Given the description of an element on the screen output the (x, y) to click on. 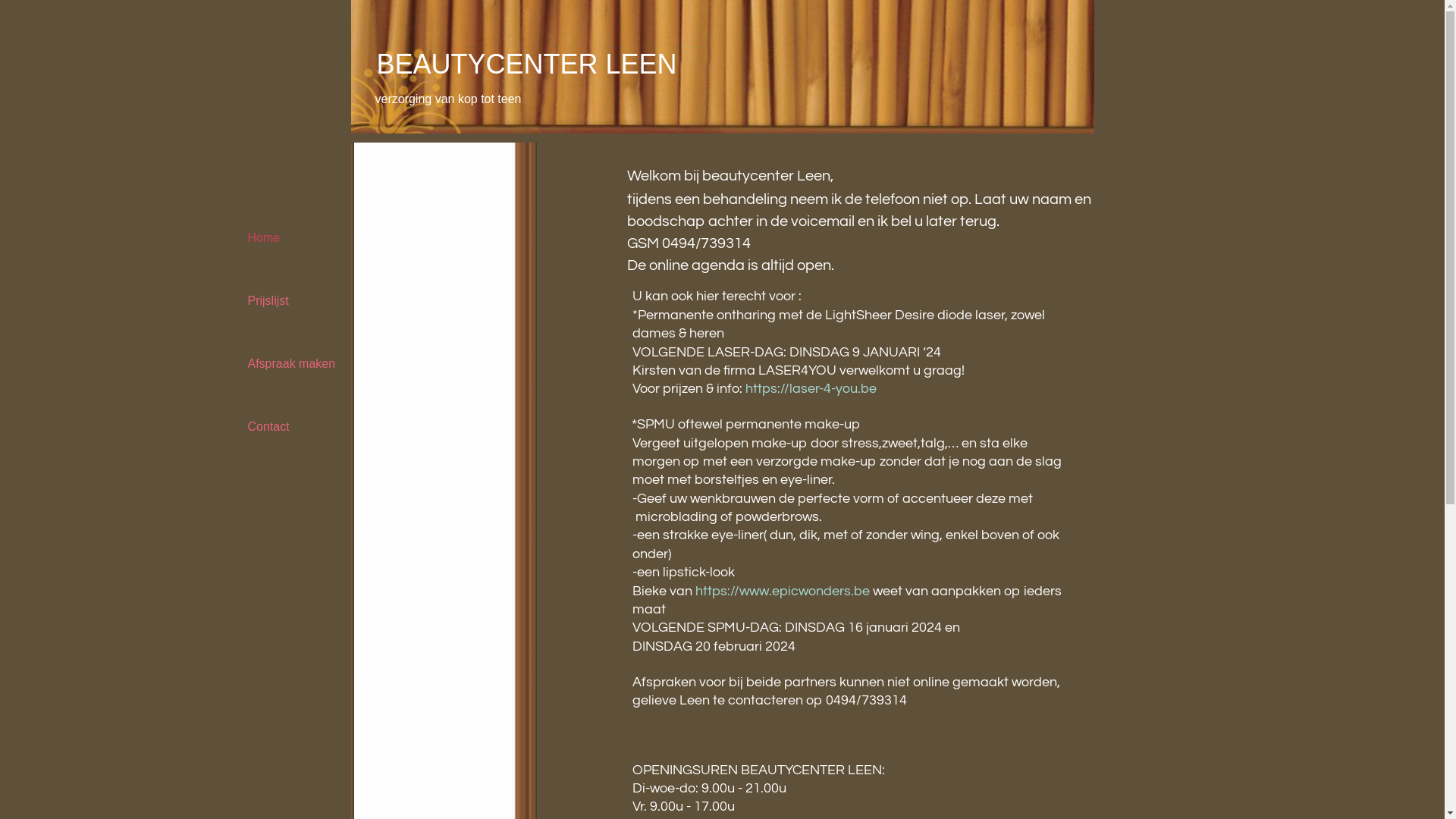
Prijslijst Element type: text (298, 300)
Contact Element type: text (298, 426)
Afspraak maken Element type: text (298, 363)
Home Element type: text (298, 237)
https://laser-4-you.be Element type: text (809, 388)
https://www.epicwonders.be Element type: text (781, 590)
